Given the description of an element on the screen output the (x, y) to click on. 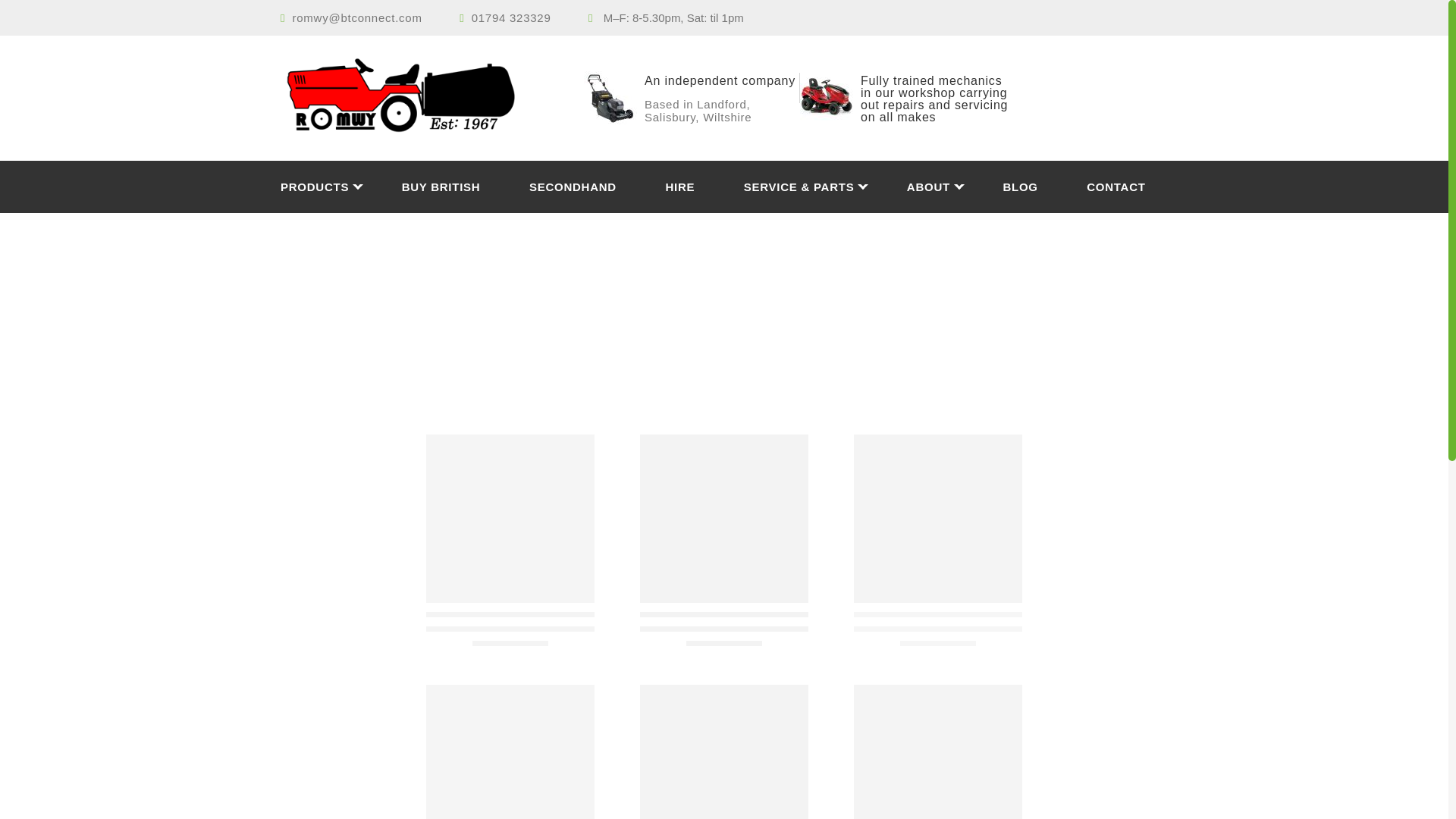
01794 323329 (511, 17)
SECONDHAND (595, 186)
CONTACT (1115, 186)
BUY BRITISH (463, 186)
ABOUT (952, 186)
Romwy Power Garden Machinery Ltd (420, 97)
PRODUCTS (339, 186)
HIRE (702, 186)
BLOG (1043, 186)
